Given the description of an element on the screen output the (x, y) to click on. 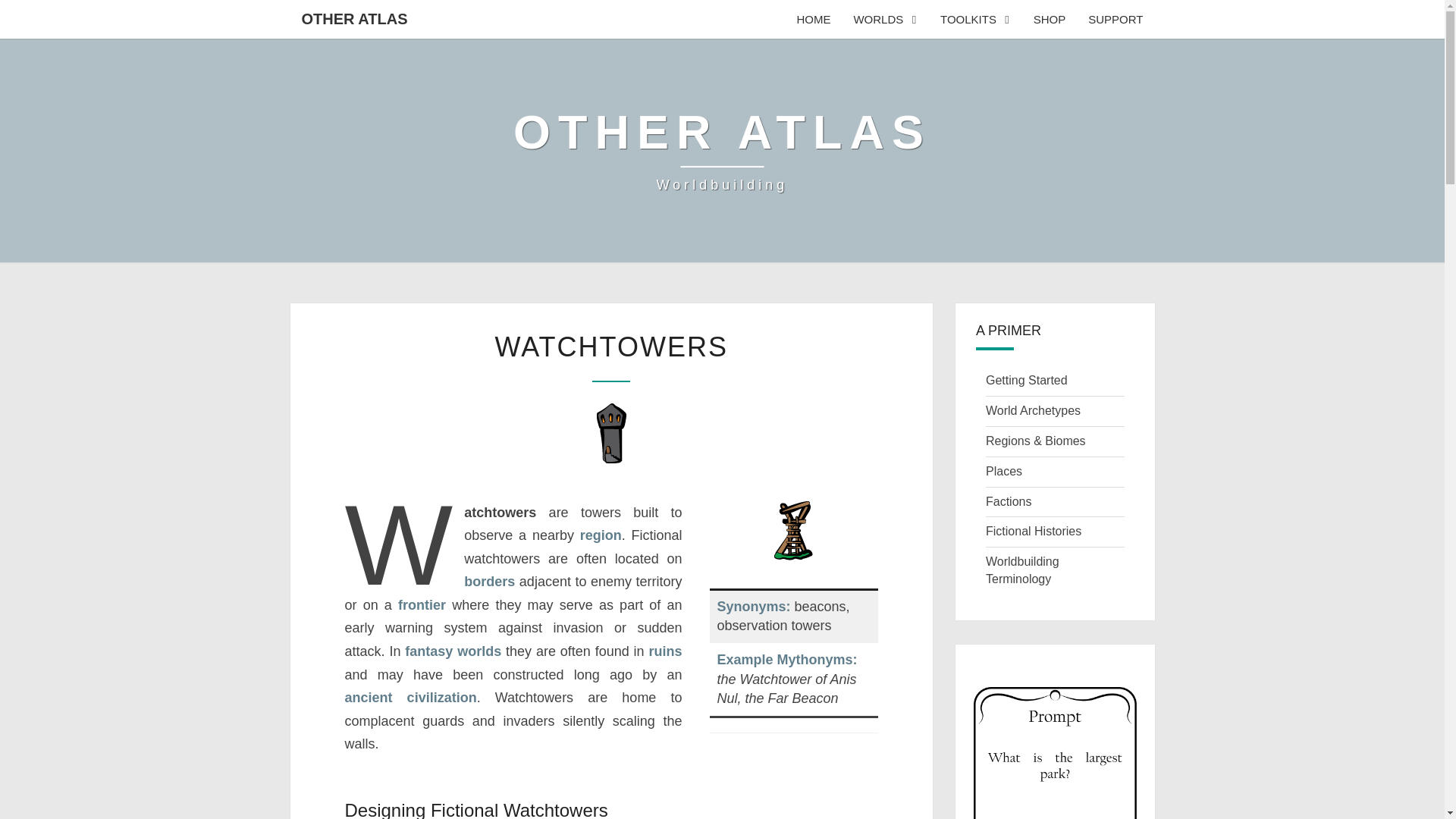
SUPPORT (1115, 19)
Wigit Tip 108-01 (1055, 753)
SHOP (1049, 19)
Synonyms: (753, 606)
region (600, 534)
fantasy worlds (452, 651)
ruins (664, 651)
borders (489, 581)
HOME (812, 19)
ancient civilization (409, 697)
WORLDS (722, 150)
OTHER ATLAS (884, 19)
Other Atlas (354, 18)
TOOLKITS (722, 150)
